Given the description of an element on the screen output the (x, y) to click on. 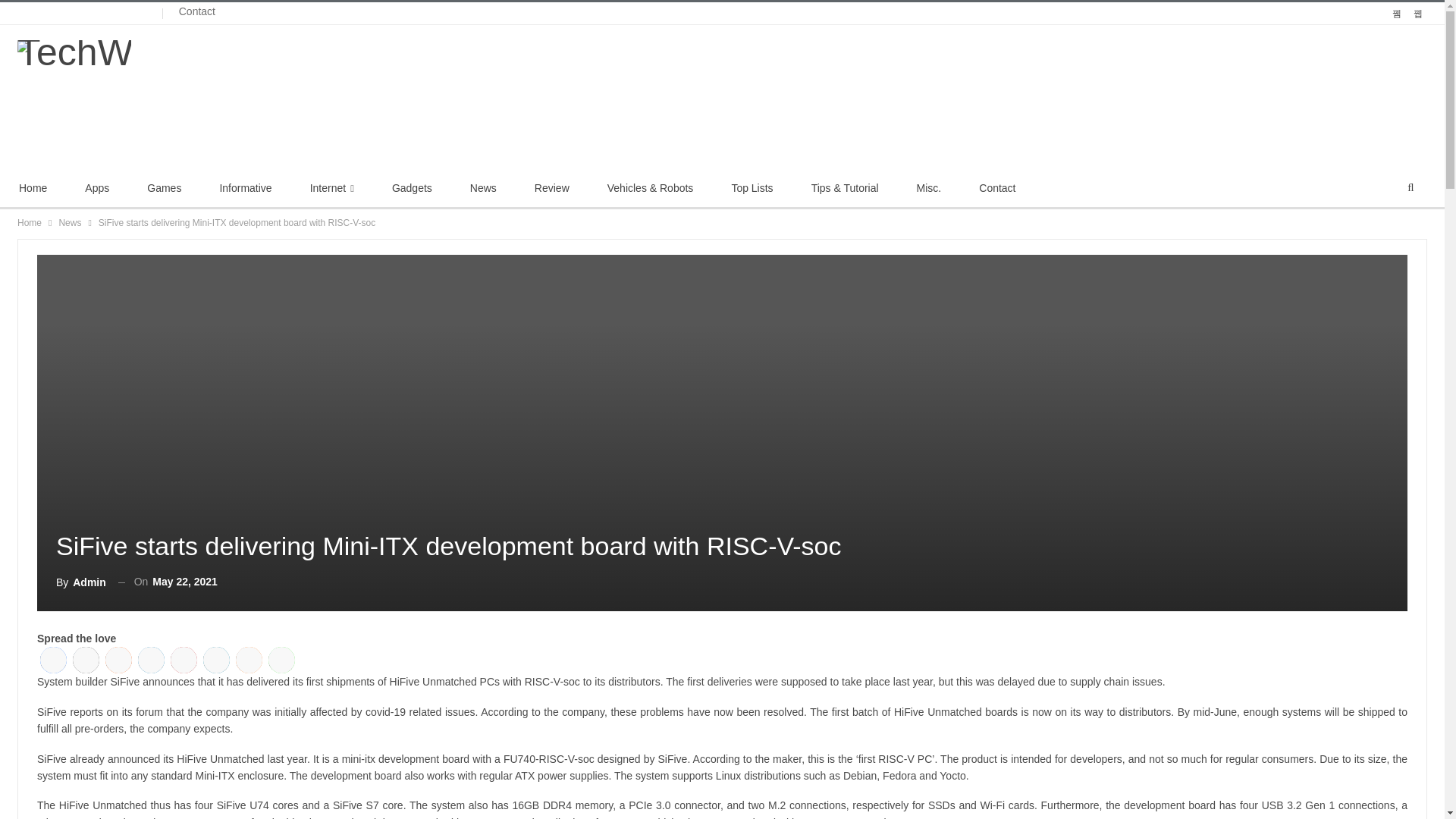
MeWe (216, 659)
Whatsapp (281, 659)
Gadgets (411, 187)
Pinterest (183, 659)
Contact (996, 187)
News (69, 222)
Home (29, 222)
Browse Author Articles (81, 581)
Reddit (118, 659)
